Given the description of an element on the screen output the (x, y) to click on. 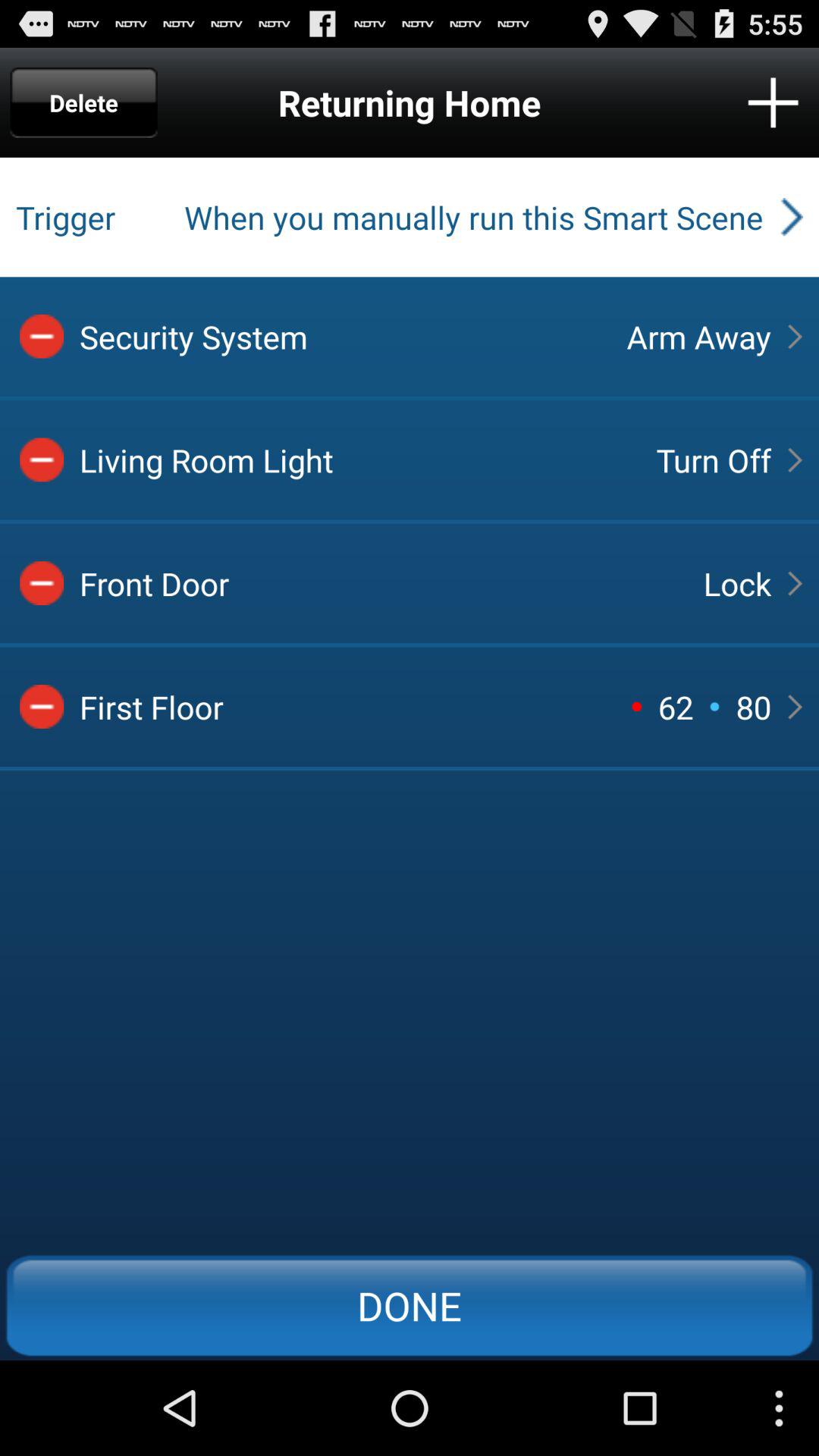
delete selection (41, 583)
